Given the description of an element on the screen output the (x, y) to click on. 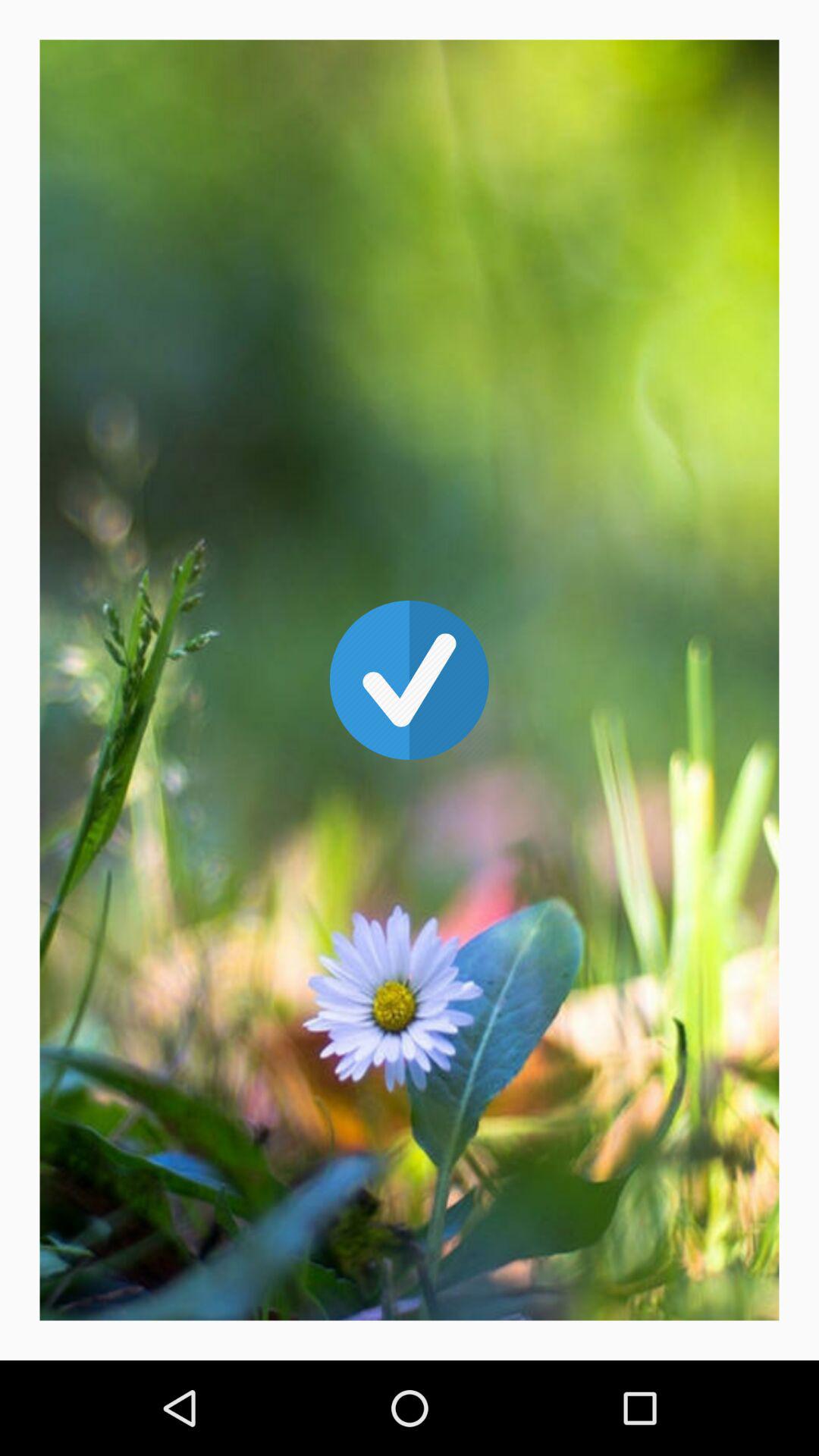
deselect picture (409, 679)
